Given the description of an element on the screen output the (x, y) to click on. 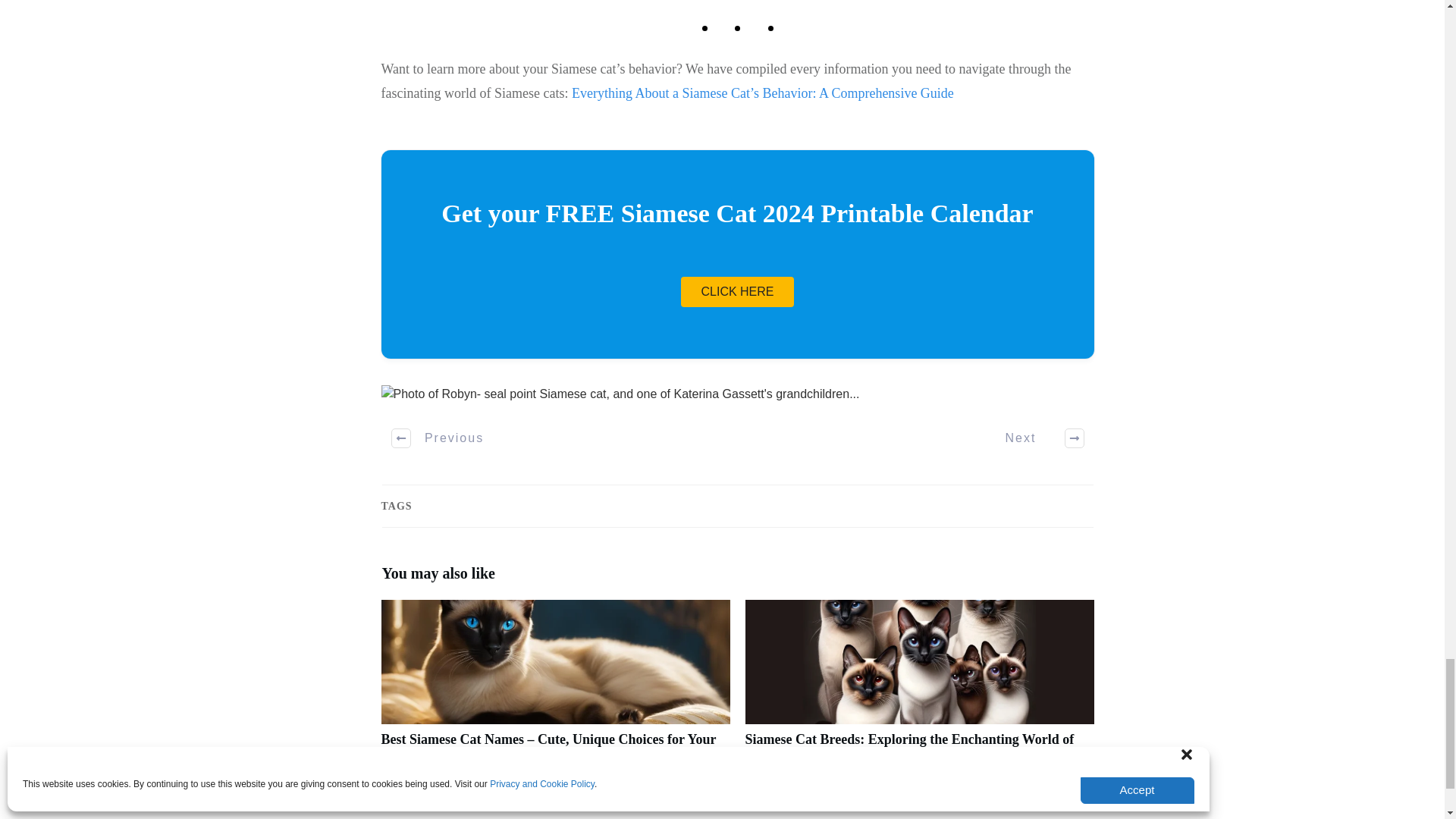
Next (1036, 438)
Previous (438, 438)
CLICK HERE (737, 291)
